Given the description of an element on the screen output the (x, y) to click on. 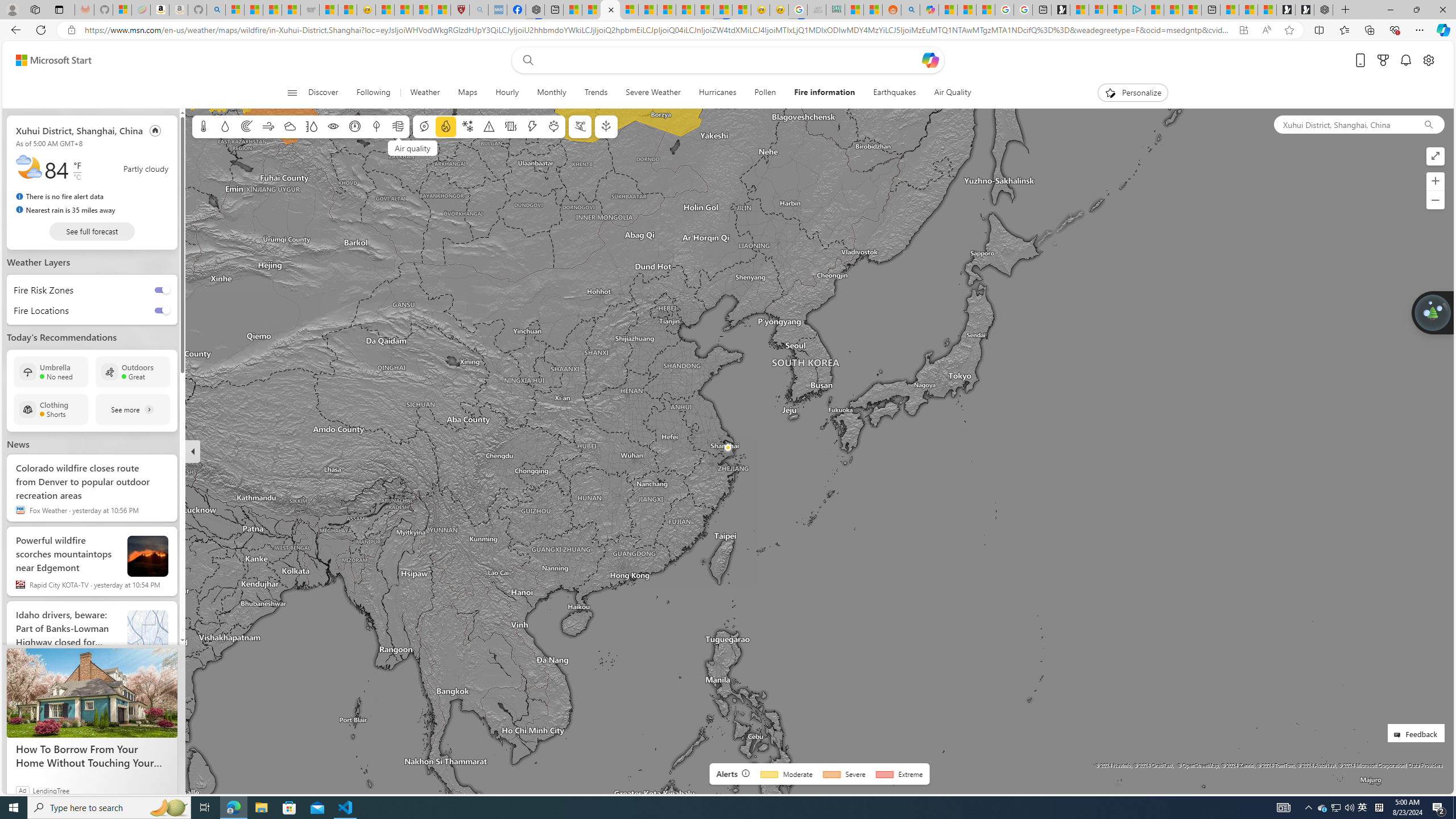
Monthly (551, 92)
Trends (596, 92)
Join us in planting real trees to help our planet! (1431, 311)
Air quality (397, 126)
Hurricane (423, 126)
Ski conditions (579, 126)
Earthquakes (894, 92)
